Given the description of an element on the screen output the (x, y) to click on. 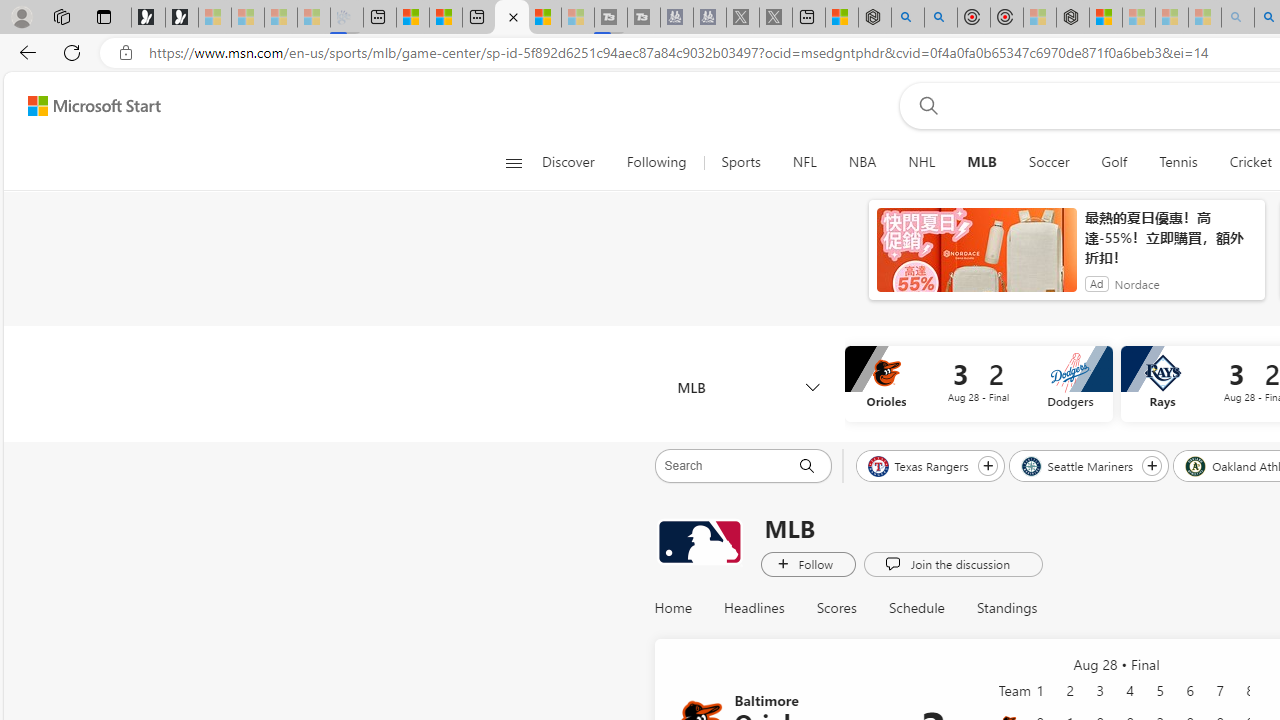
anim-content (975, 258)
Skip to content (86, 105)
Orioles 3 vs Dodgers 2Final Date Aug 28 (978, 383)
Web search (924, 105)
Join the discussion (952, 563)
NHL (921, 162)
MLB (981, 162)
MLB (748, 386)
